Given the description of an element on the screen output the (x, y) to click on. 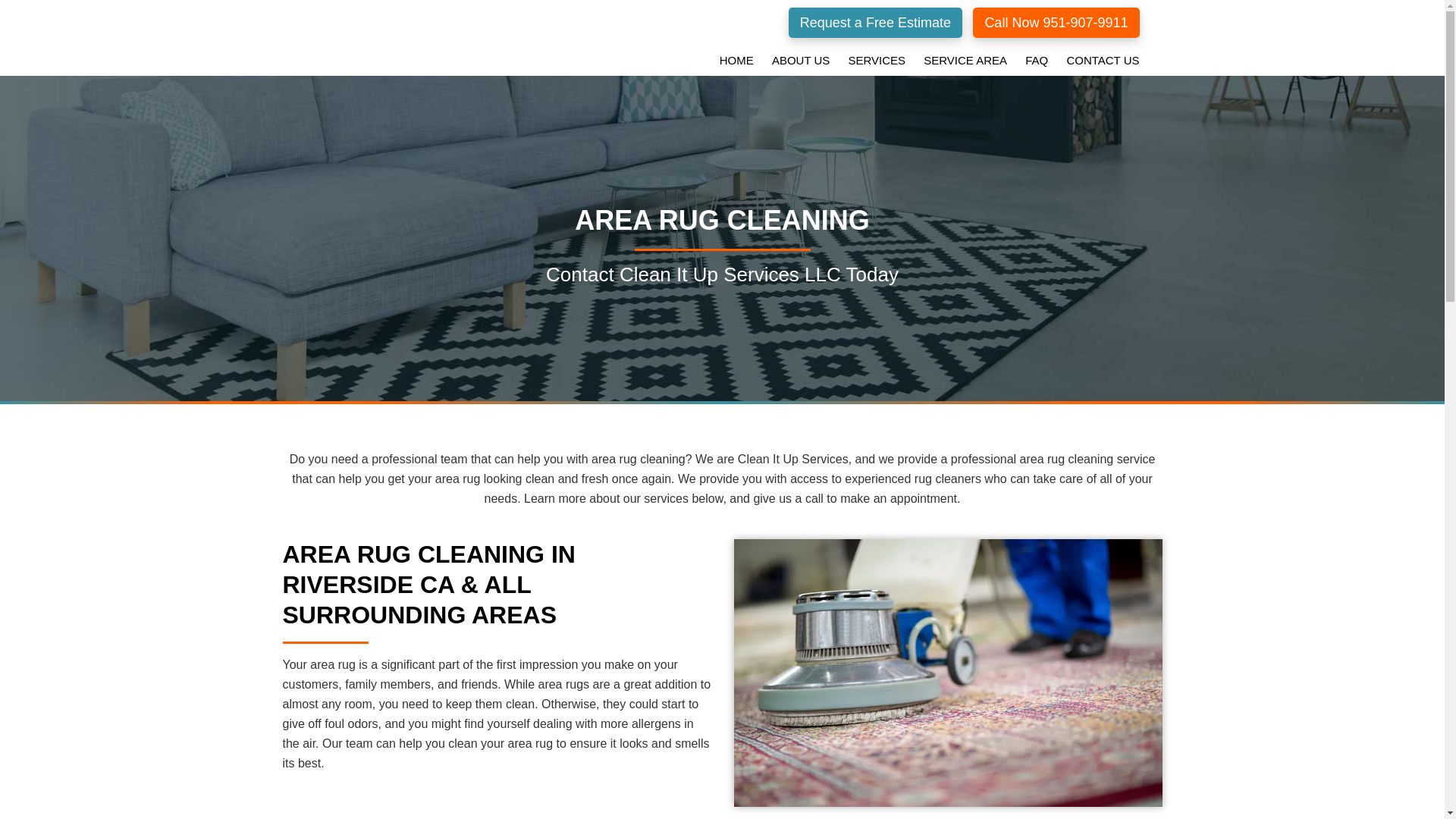
HOME (736, 60)
SERVICE AREA (964, 60)
Request a Free Estimate (875, 22)
SERVICES (876, 60)
Call Now 951-907-9911 (1055, 22)
ABOUT US (800, 60)
CONTACT US (1102, 60)
FAQ (1036, 60)
Clean It Up Services LLC (400, 32)
